Given the description of an element on the screen output the (x, y) to click on. 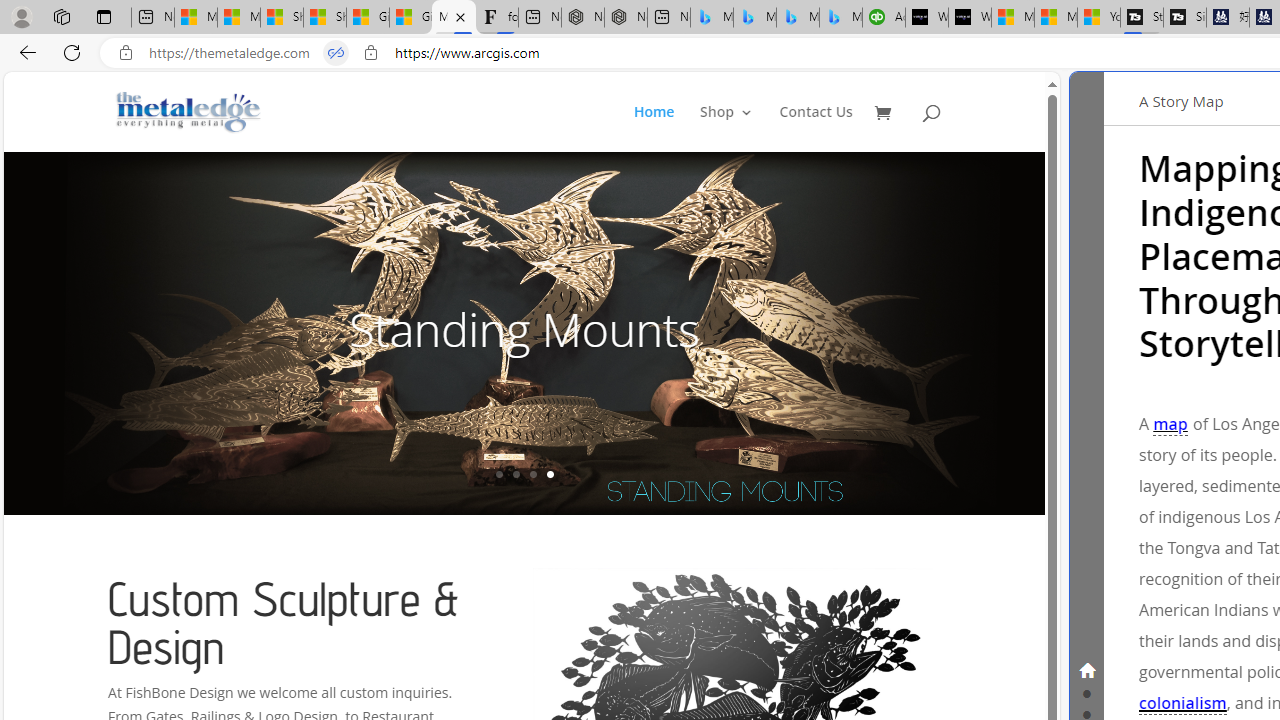
Shop3 (737, 128)
Gilma and Hector both pose tropical trouble for Hawaii (411, 17)
Workspaces (61, 16)
Contact Us (815, 128)
Close tab (459, 16)
Shop 3 (726, 128)
View site information (370, 53)
Metal Fish Sculptures & Metal Designs (189, 111)
Contact Us (815, 128)
Skip to narrative (1143, 92)
Tab actions menu (104, 16)
Home (665, 128)
5 (1042, 332)
map (1170, 425)
